Given the description of an element on the screen output the (x, y) to click on. 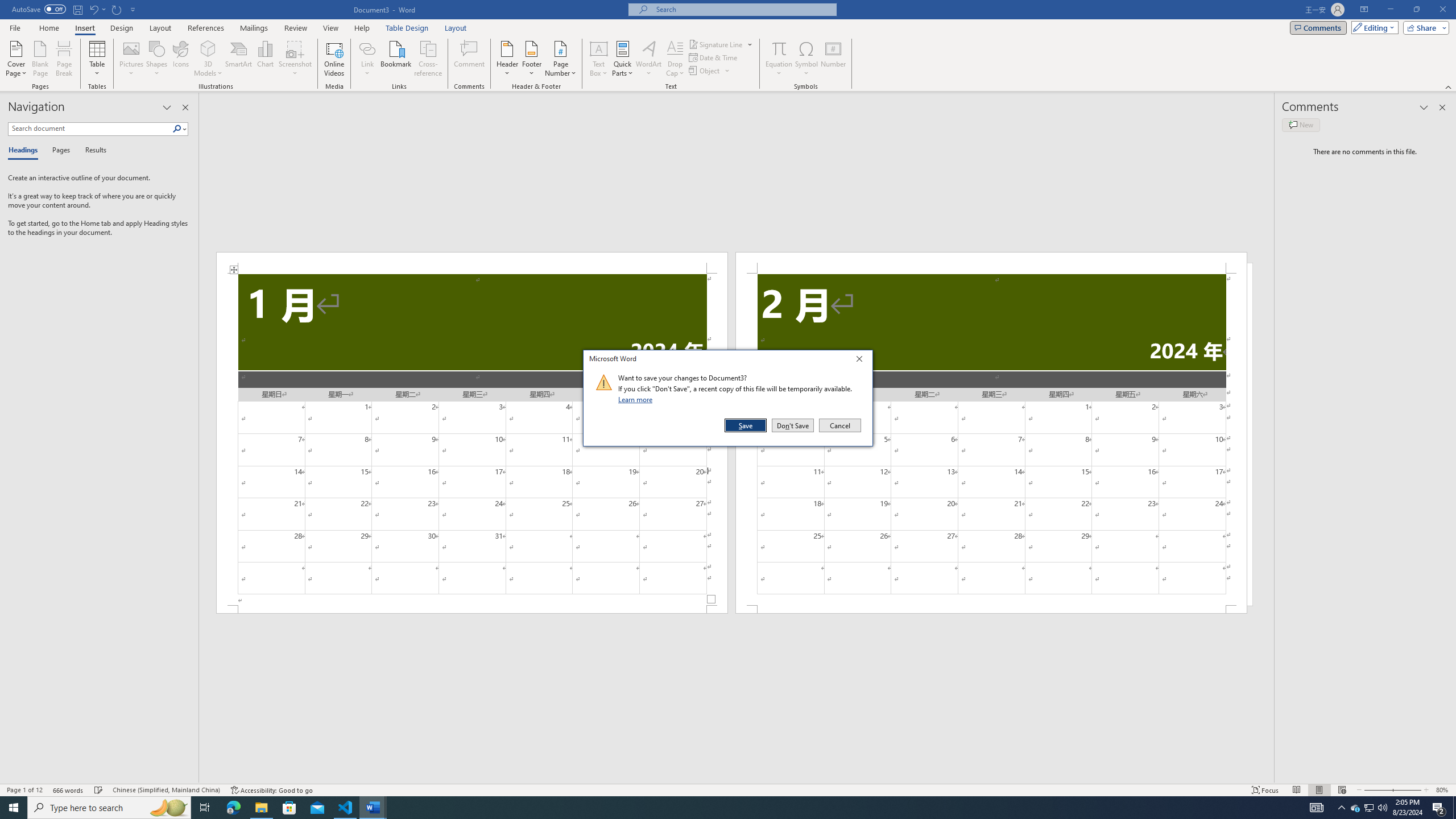
Learn more (636, 399)
Online Videos... (333, 58)
